Given the description of an element on the screen output the (x, y) to click on. 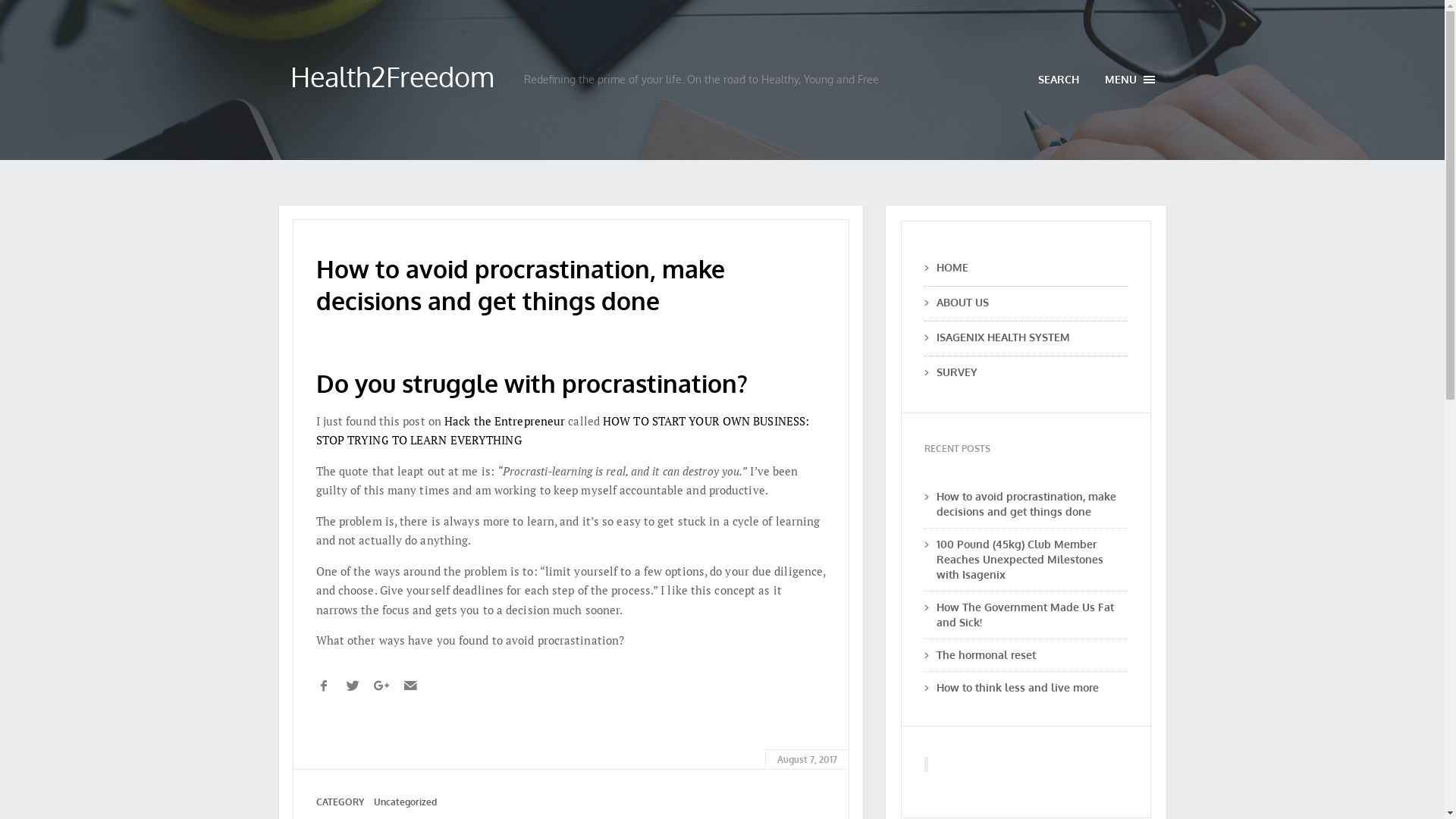
Share on Twitter Element type: hover (351, 685)
How The Government Made Us Fat and Sick! Element type: text (1024, 614)
Health2Freedom Element type: text (391, 75)
HOME Element type: text (1030, 267)
Share on Mail Element type: hover (409, 685)
How to think less and live more Element type: text (1016, 686)
Share on Google Element type: hover (380, 685)
ABOUT US Element type: text (1030, 302)
MENU
TOGGLE NAVIGATION Element type: text (1129, 79)
SURVEY Element type: text (1030, 371)
Uncategorized Element type: text (404, 801)
ISAGENIX HEALTH SYSTEM Element type: text (1030, 337)
Share on Facebook Element type: hover (322, 685)
Hack the Entrepreneur Element type: text (504, 420)
The hormonal reset Element type: text (985, 654)
SEARCH Element type: text (1058, 78)
